Given the description of an element on the screen output the (x, y) to click on. 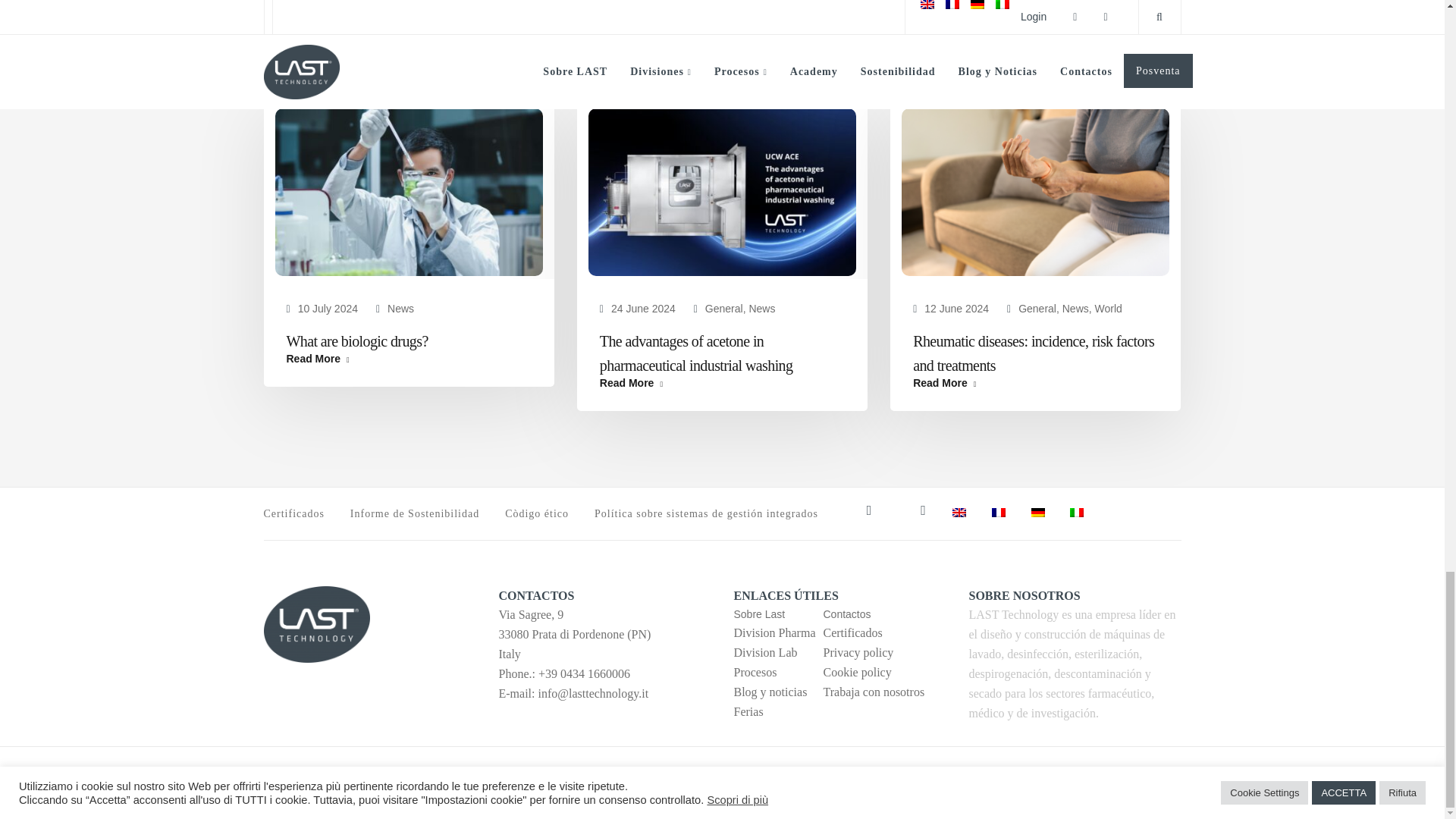
News (400, 308)
